Given the description of an element on the screen output the (x, y) to click on. 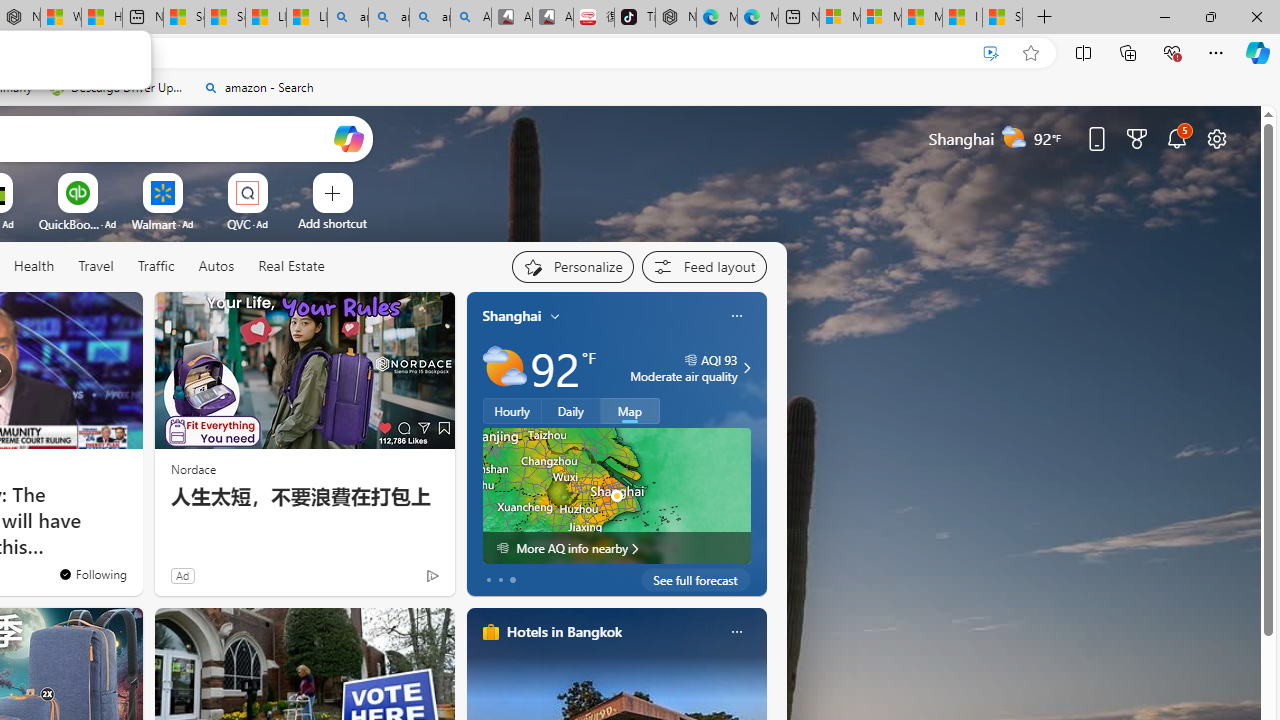
All Cubot phones (552, 17)
Real Estate (291, 265)
Partly sunny (504, 368)
Hide this story (82, 315)
Huge shark washes ashore at New York City beach | Watch (101, 17)
Ad (182, 575)
Add a site (332, 223)
Microsoft account | Privacy (881, 17)
See full forecast (695, 579)
Restore (1210, 16)
Map (630, 411)
Ad Choice (432, 575)
